Given the description of an element on the screen output the (x, y) to click on. 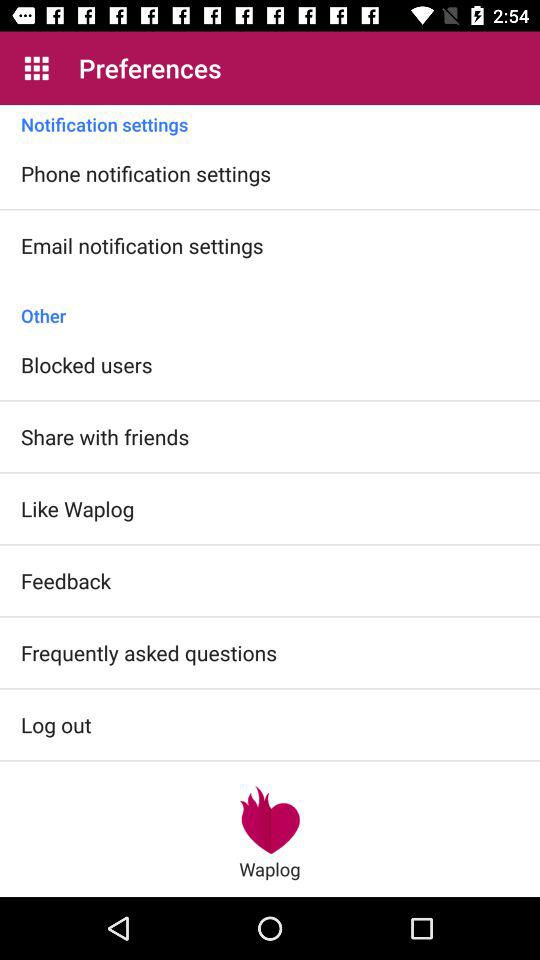
scroll to the feedback item (66, 580)
